Given the description of an element on the screen output the (x, y) to click on. 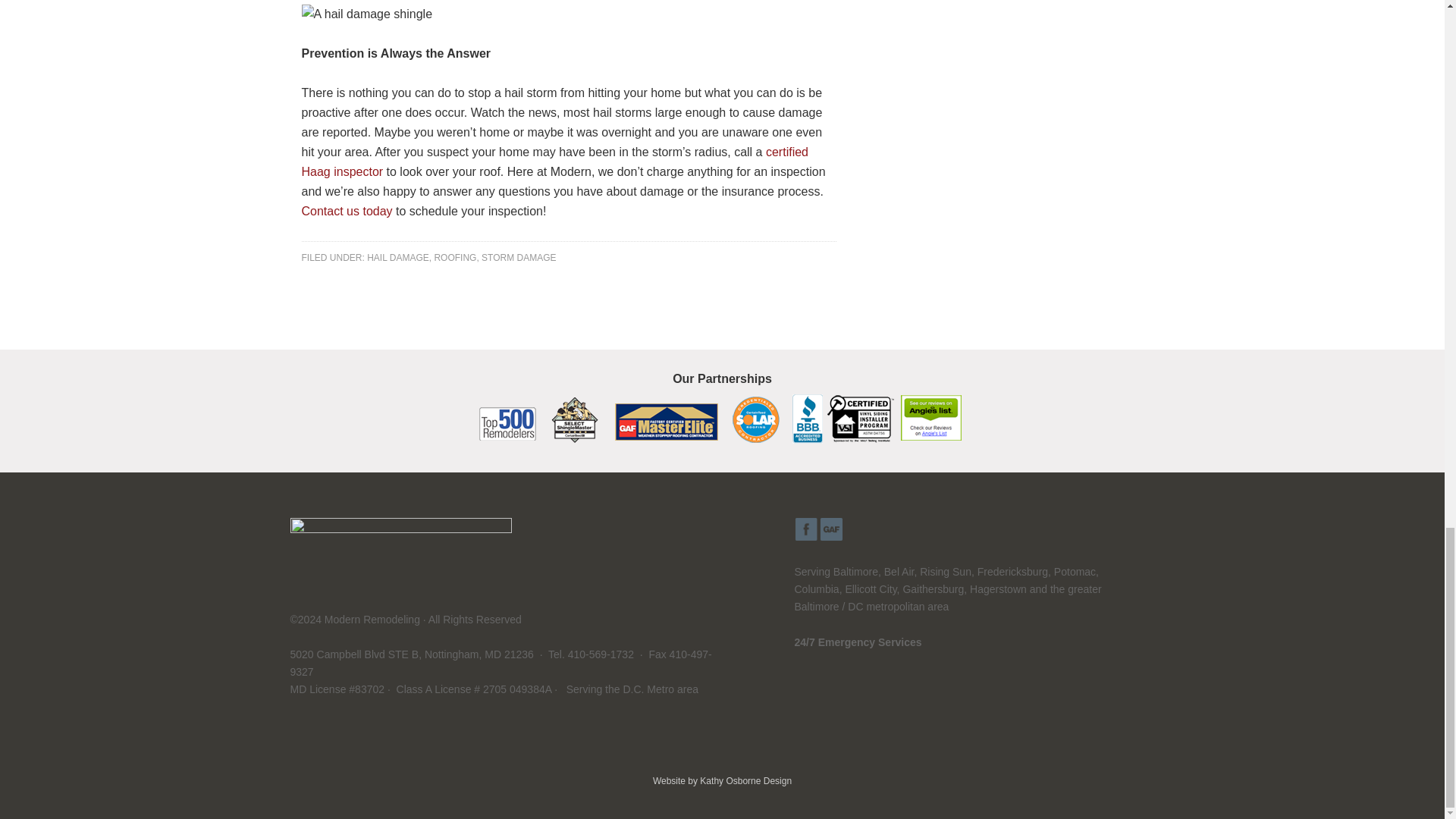
ROOFING (454, 257)
STORM DAMAGE (518, 257)
certified Haag inspector (555, 161)
HAIL DAMAGE (397, 257)
Contact us today (347, 210)
